Given the description of an element on the screen output the (x, y) to click on. 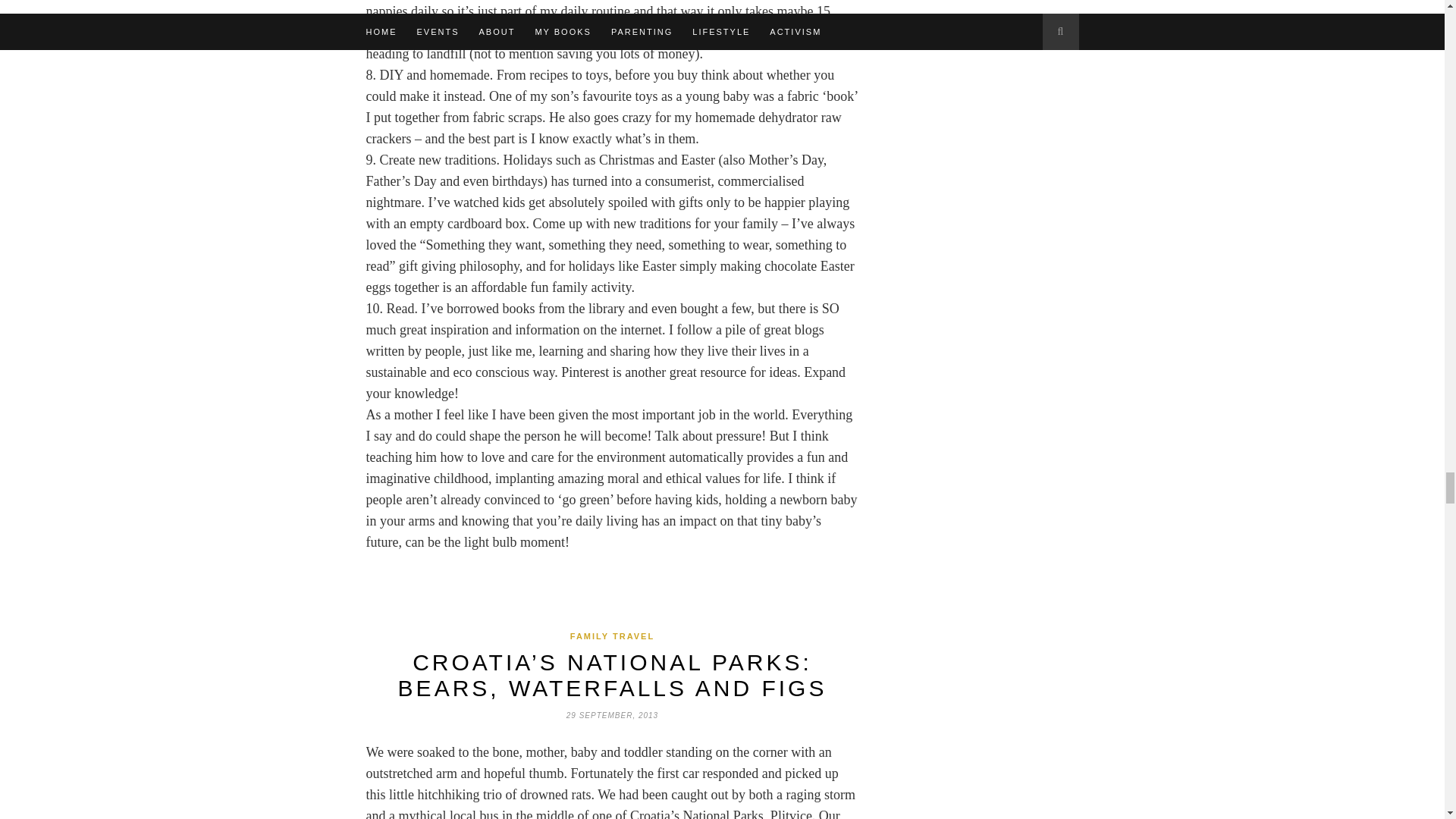
View all posts in Family Travel (611, 635)
